Given the description of an element on the screen output the (x, y) to click on. 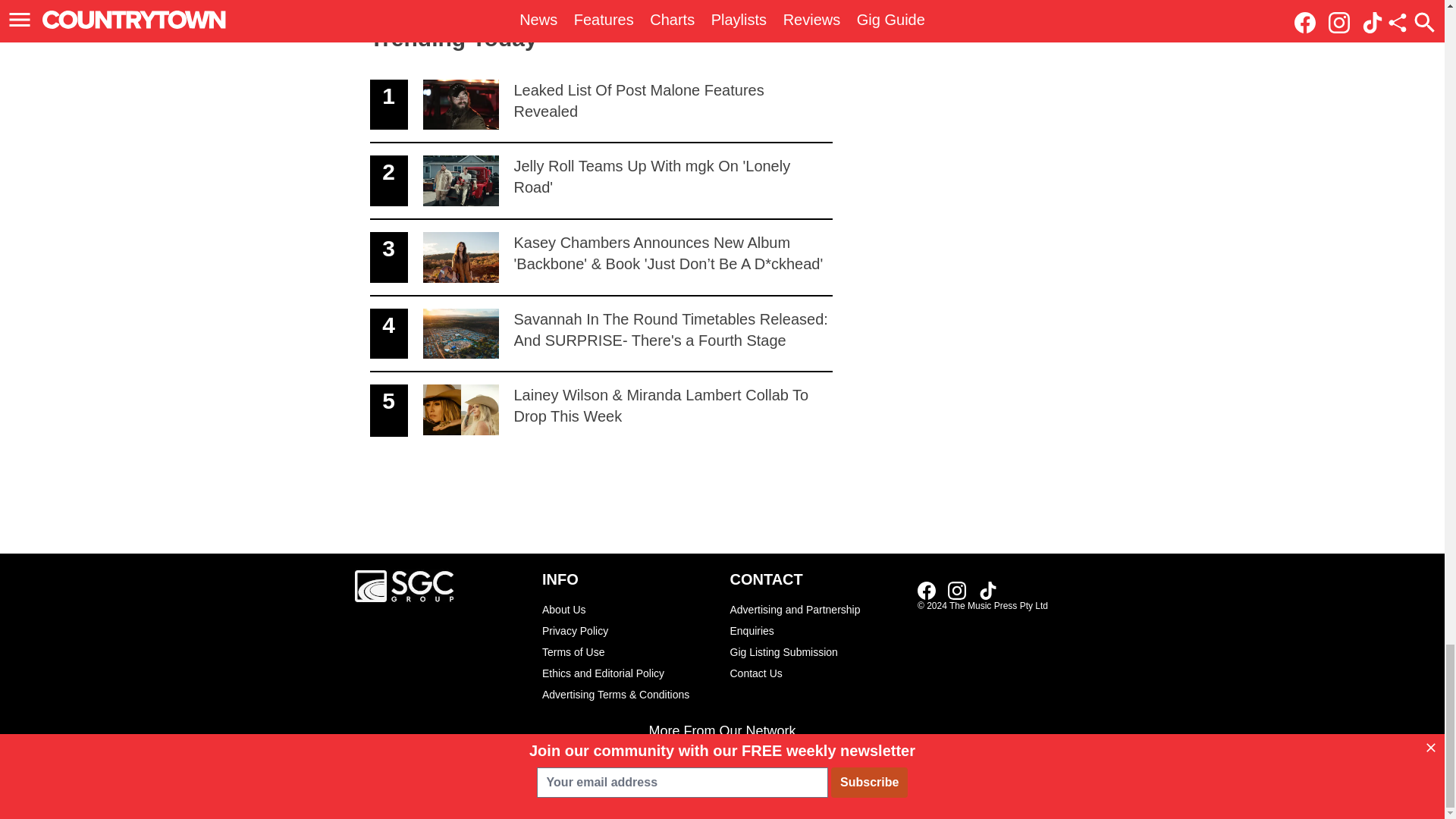
Link to our TikTok (987, 590)
Lee Kernaghan Calls Out Government On Train Safety (961, 14)
Terms of Use (627, 651)
Link to our Instagram (956, 590)
Link to our Facebook (926, 590)
Privacy Policy (627, 630)
About Us (600, 181)
Ethics and Editorial Policy (627, 608)
